Given the description of an element on the screen output the (x, y) to click on. 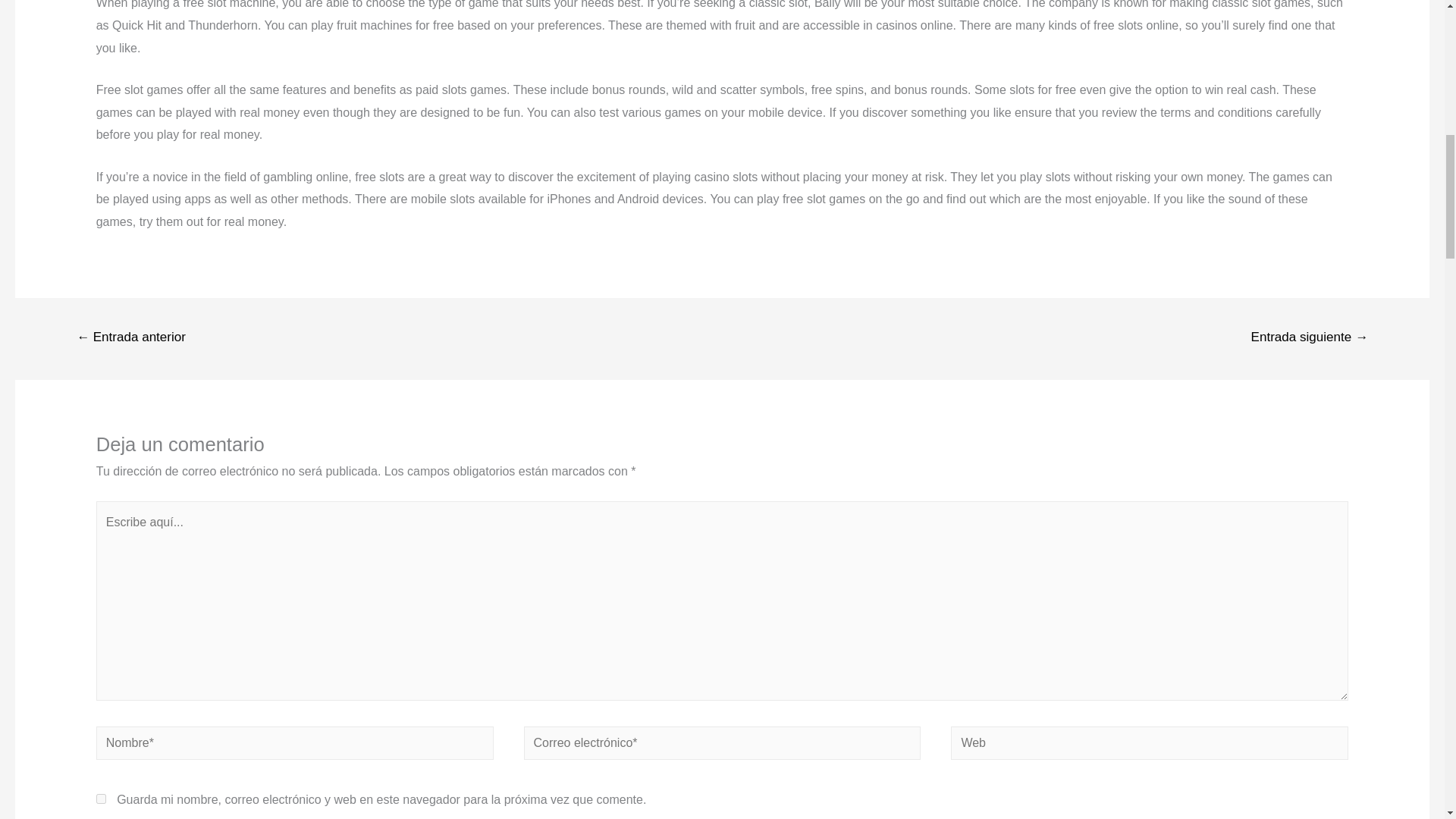
yes (101, 798)
